Given the description of an element on the screen output the (x, y) to click on. 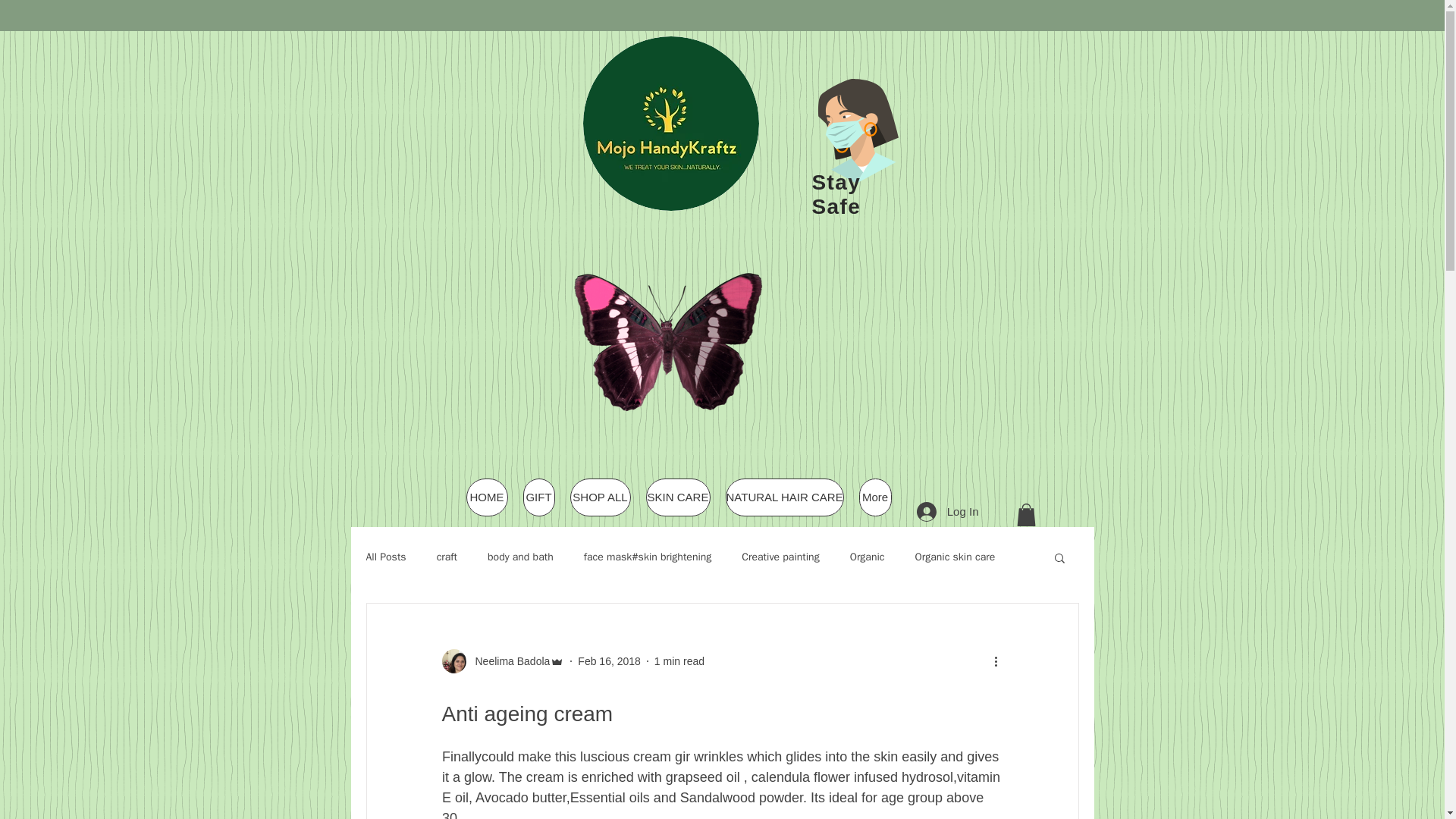
Neelima Badola (502, 661)
Neelima Badola (507, 661)
1 min read (678, 661)
NATURAL HAIR CARE (784, 497)
SKIN CARE (678, 497)
Organic (867, 557)
Organic skin care (955, 557)
SHOP ALL (600, 497)
HOME (485, 497)
craft (446, 557)
Feb 16, 2018 (609, 661)
Creative painting (779, 557)
body and bath (520, 557)
Log In (947, 511)
All Posts (385, 557)
